Given the description of an element on the screen output the (x, y) to click on. 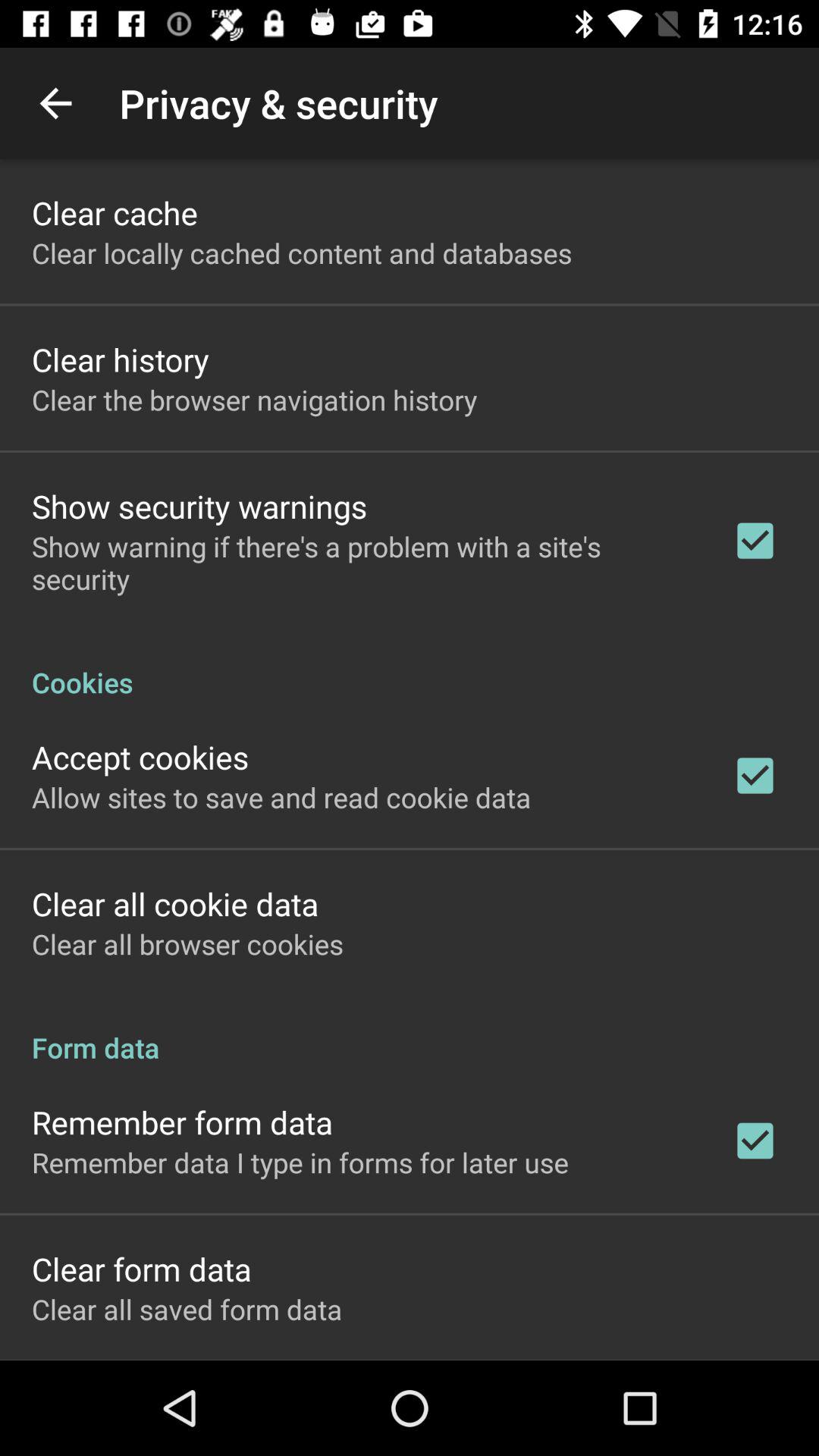
select clear locally cached icon (301, 252)
